Given the description of an element on the screen output the (x, y) to click on. 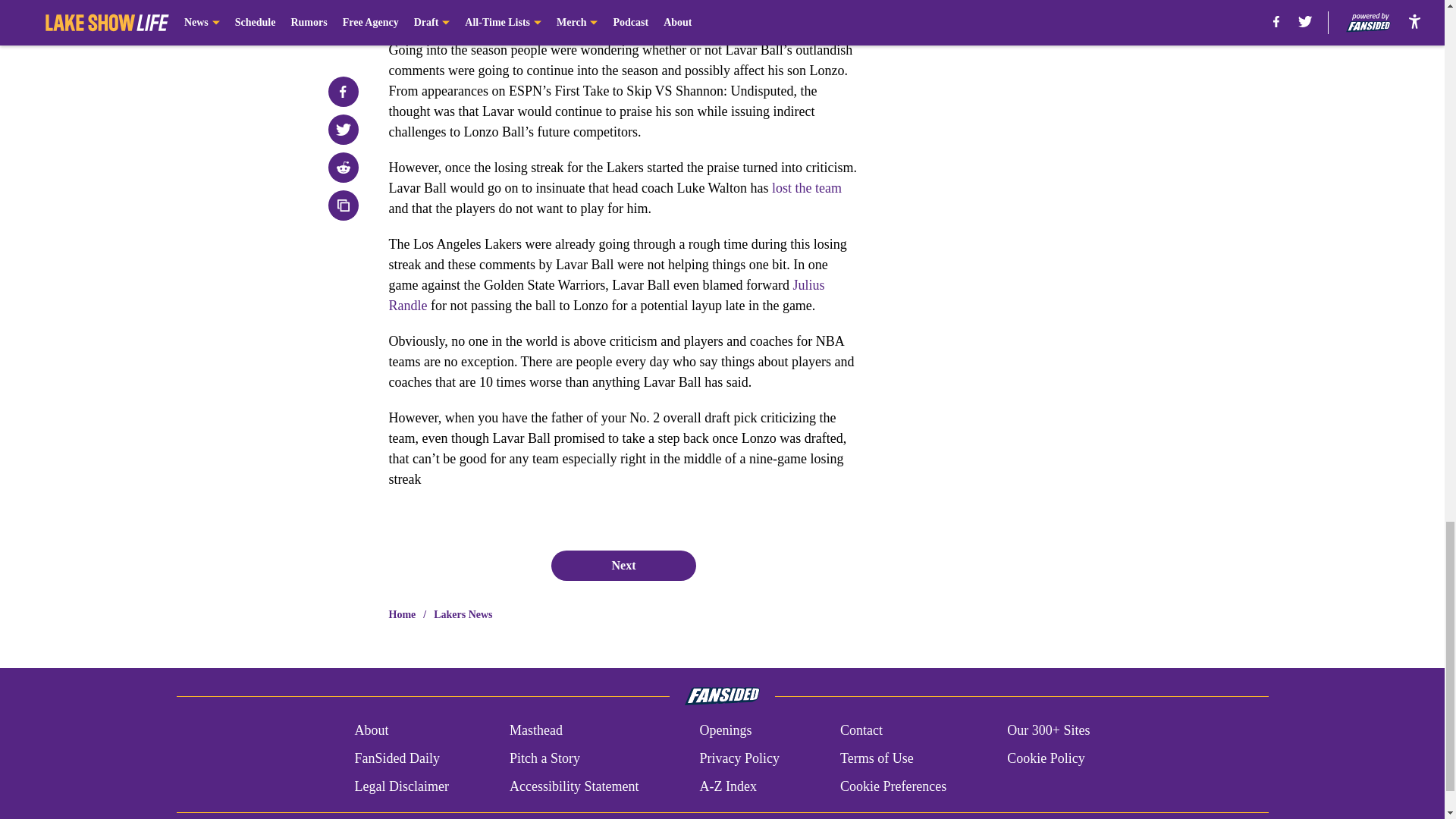
lost the team (806, 187)
Julius Randle (606, 294)
Next (622, 565)
